Given the description of an element on the screen output the (x, y) to click on. 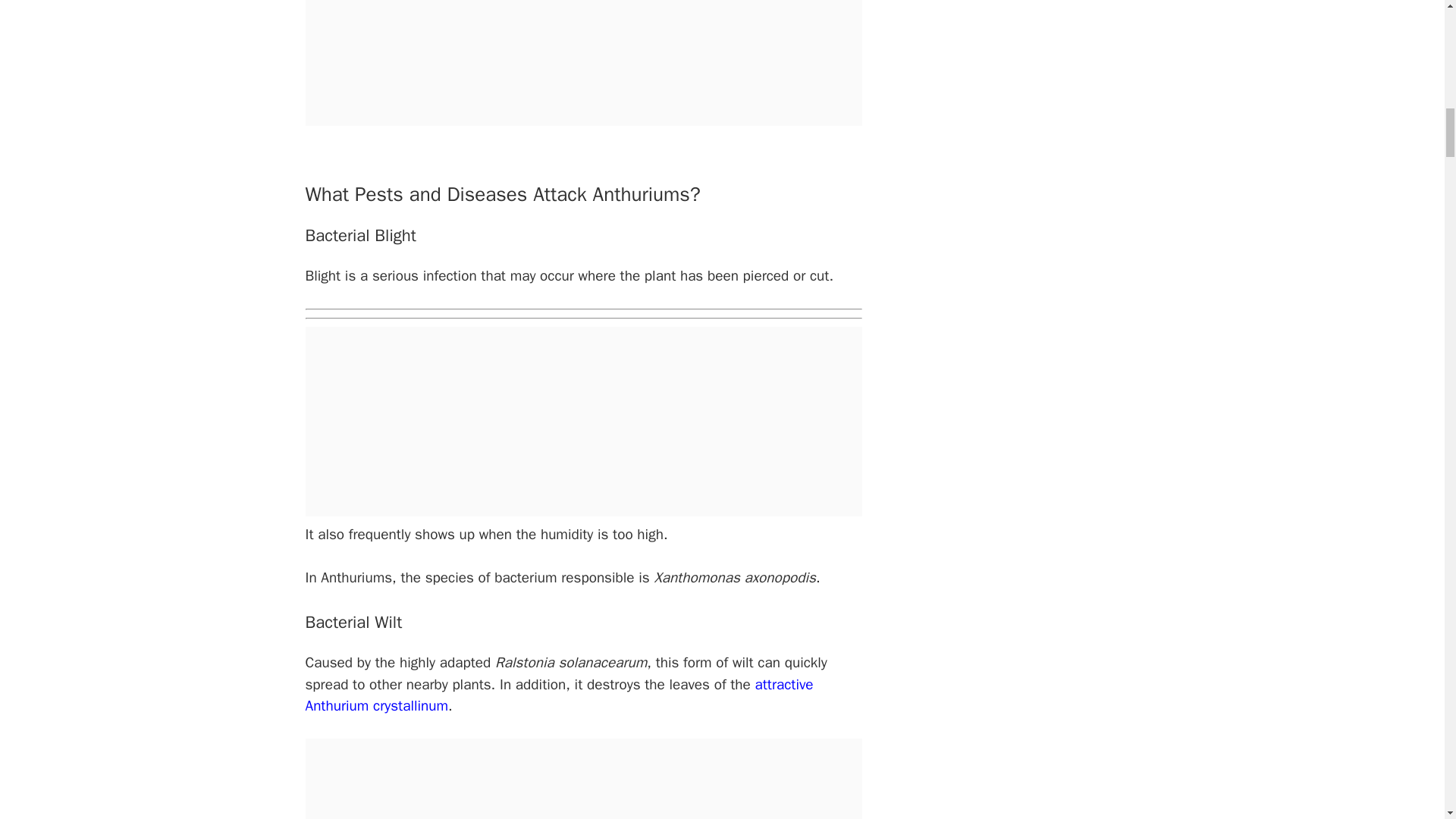
attractive Anthurium crystallinum (558, 695)
